Given the description of an element on the screen output the (x, y) to click on. 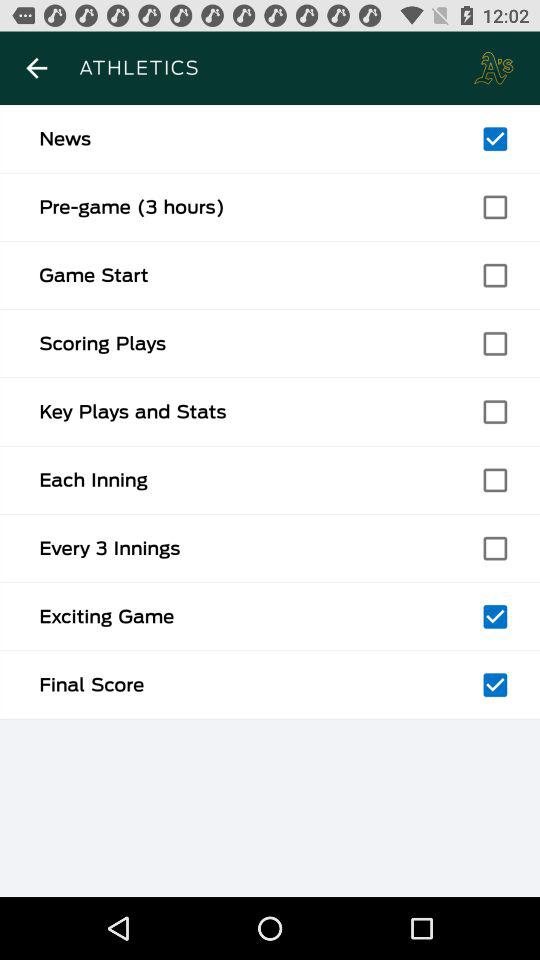
turn on icon to the left of the athletics (36, 68)
